Given the description of an element on the screen output the (x, y) to click on. 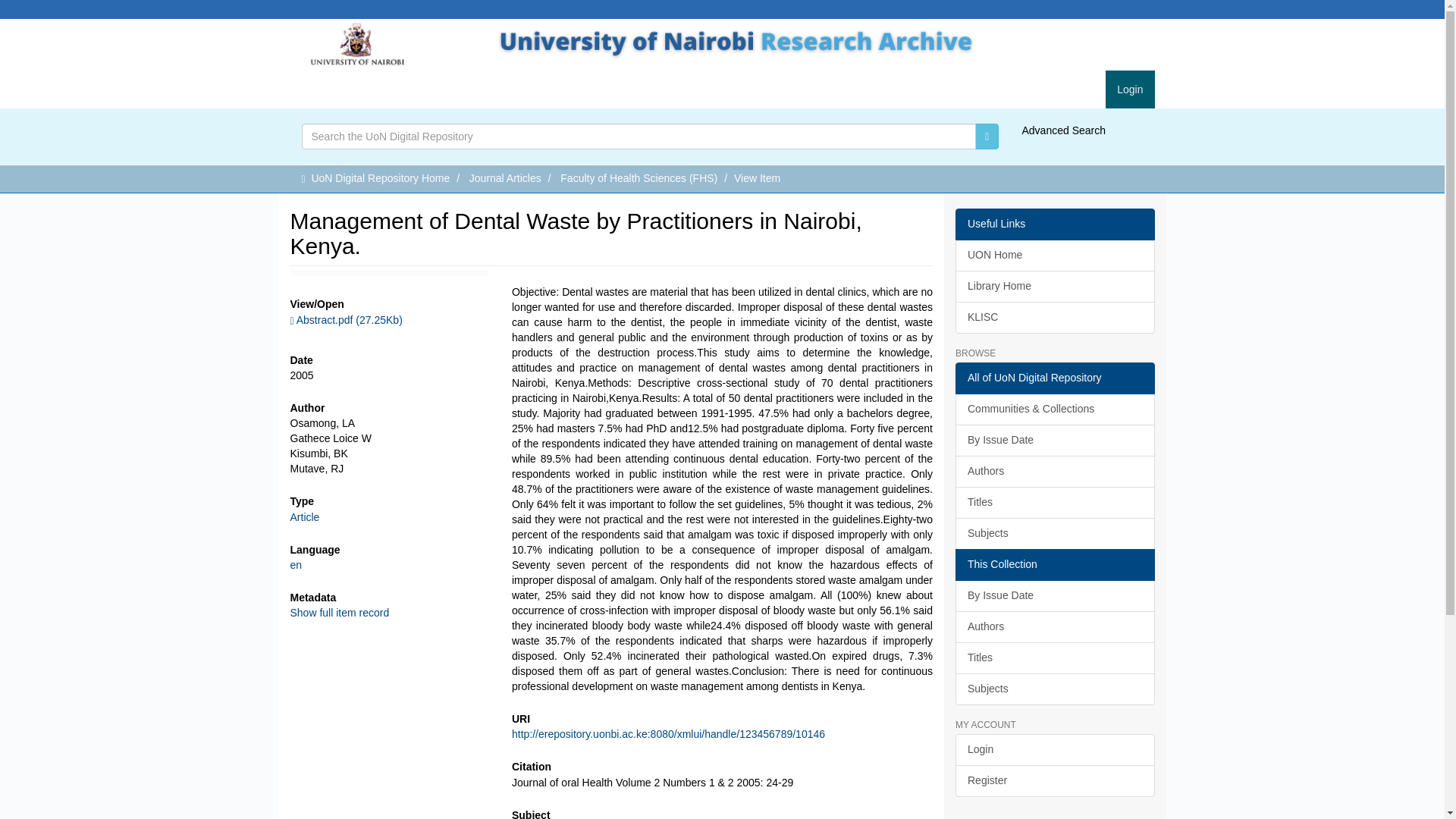
Go (986, 136)
Library Home (1054, 286)
UoN Digital Repository Home (380, 177)
This Collection (1054, 564)
Show full item record (338, 612)
By Issue Date (1054, 440)
en (295, 564)
Authors (1054, 471)
All of UoN Digital Repository (1054, 377)
KLISC (1054, 317)
